Given the description of an element on the screen output the (x, y) to click on. 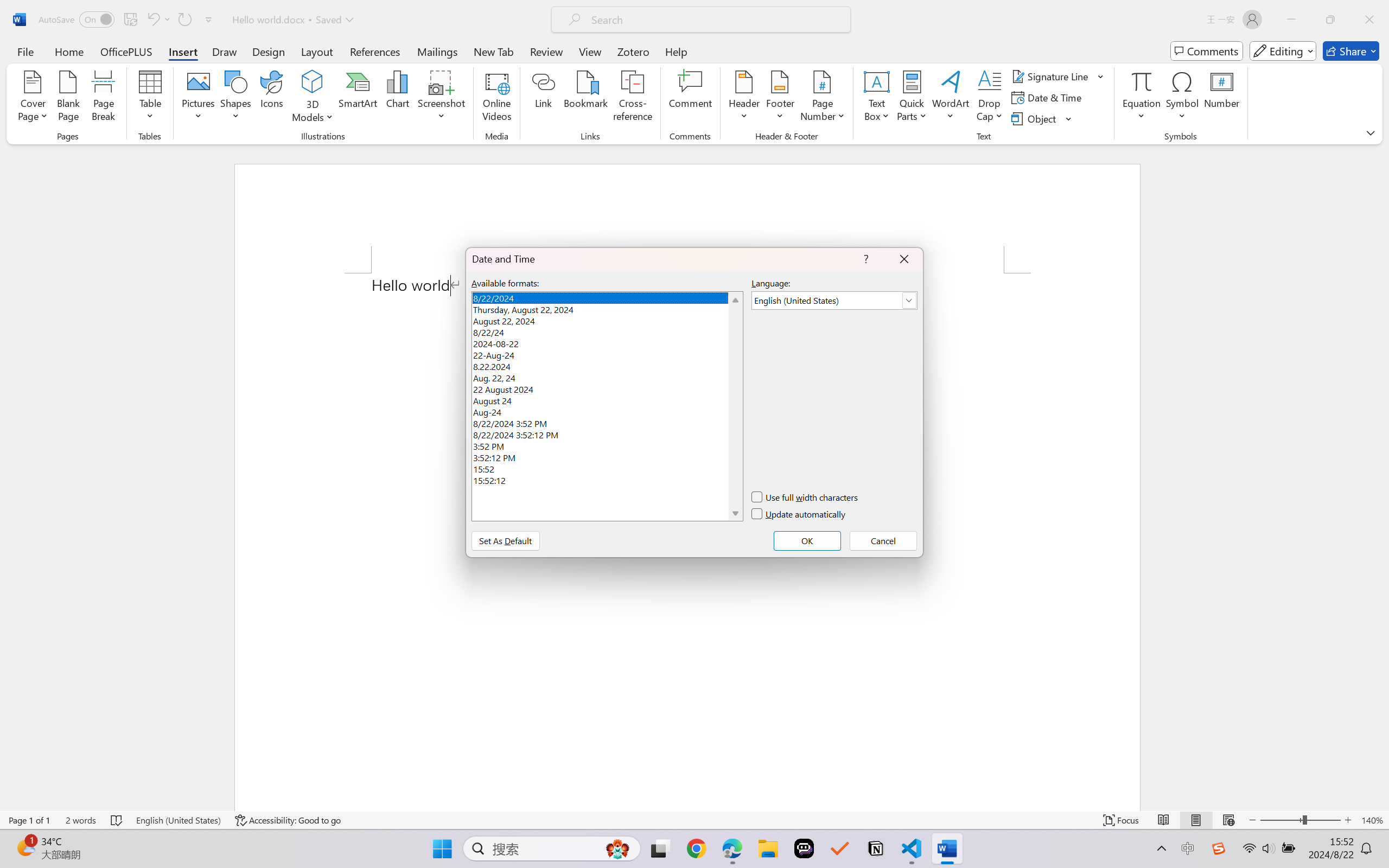
August 24 (606, 399)
Class: MsoCommandBar (694, 819)
Use full width characters (805, 497)
Insert (182, 51)
Number... (1221, 97)
AutomationID: DynamicSearchBoxGleamImage (617, 848)
Class: NetUIScrollBar (1382, 477)
Google Chrome (696, 848)
Can't Repeat (184, 19)
Draw (224, 51)
Chart... (396, 97)
